Given the description of an element on the screen output the (x, y) to click on. 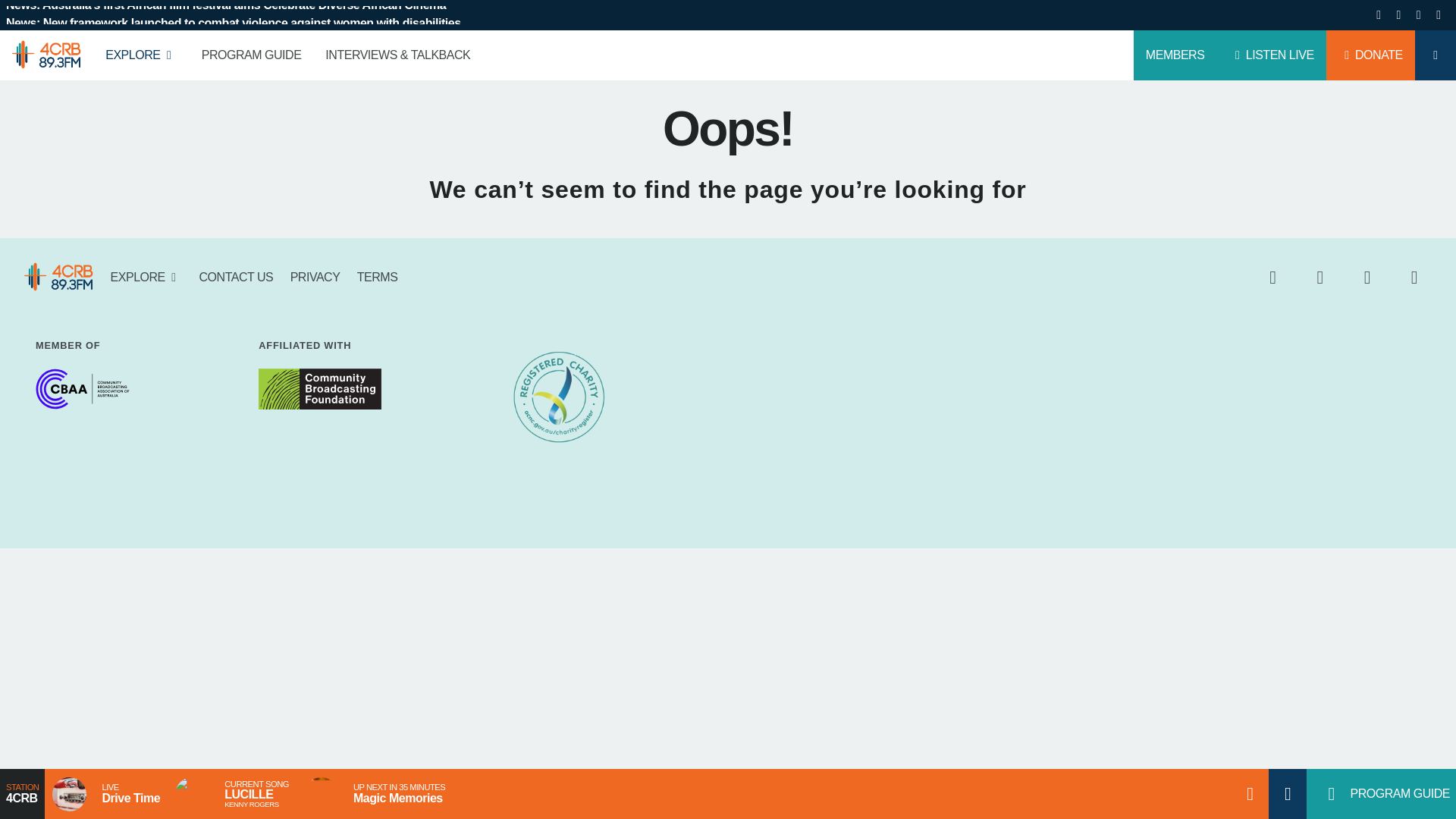
EXPLORE (141, 55)
MEMBERS (1175, 55)
DONATE (1370, 55)
LISTEN LIVE (1269, 55)
PROGRAM GUIDE (251, 55)
